Given the description of an element on the screen output the (x, y) to click on. 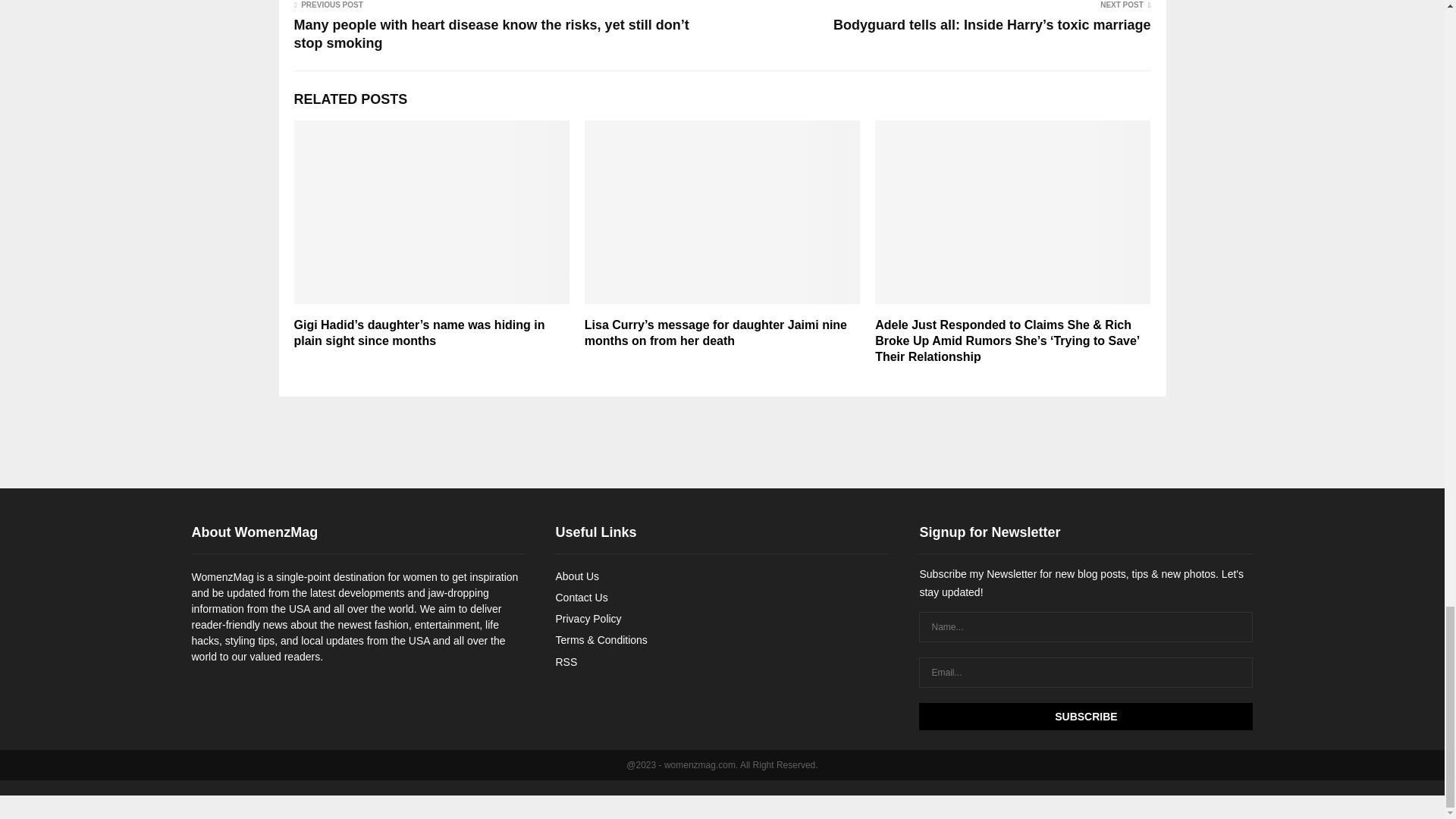
Subscribe (1085, 716)
